Given the description of an element on the screen output the (x, y) to click on. 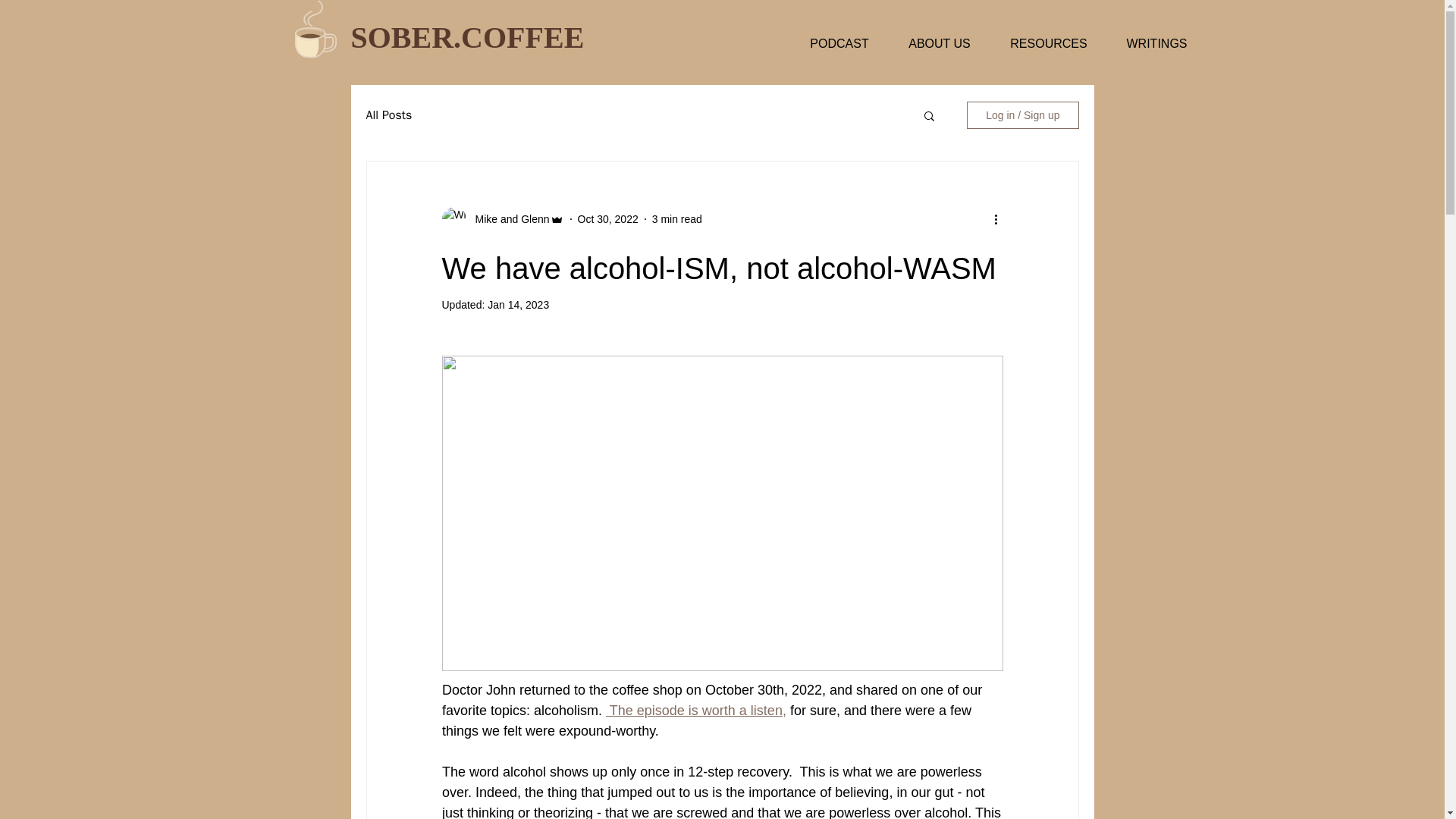
RESOURCES (1048, 44)
ABOUT US (939, 44)
Jan 14, 2023 (517, 304)
SOBER.COFFEE (466, 37)
Oct 30, 2022 (608, 218)
3 min read (676, 218)
Mike and Glenn (506, 218)
WRITINGS (1156, 44)
PODCAST (839, 44)
 The episode is worth a listen, (695, 710)
All Posts (388, 115)
